Given the description of an element on the screen output the (x, y) to click on. 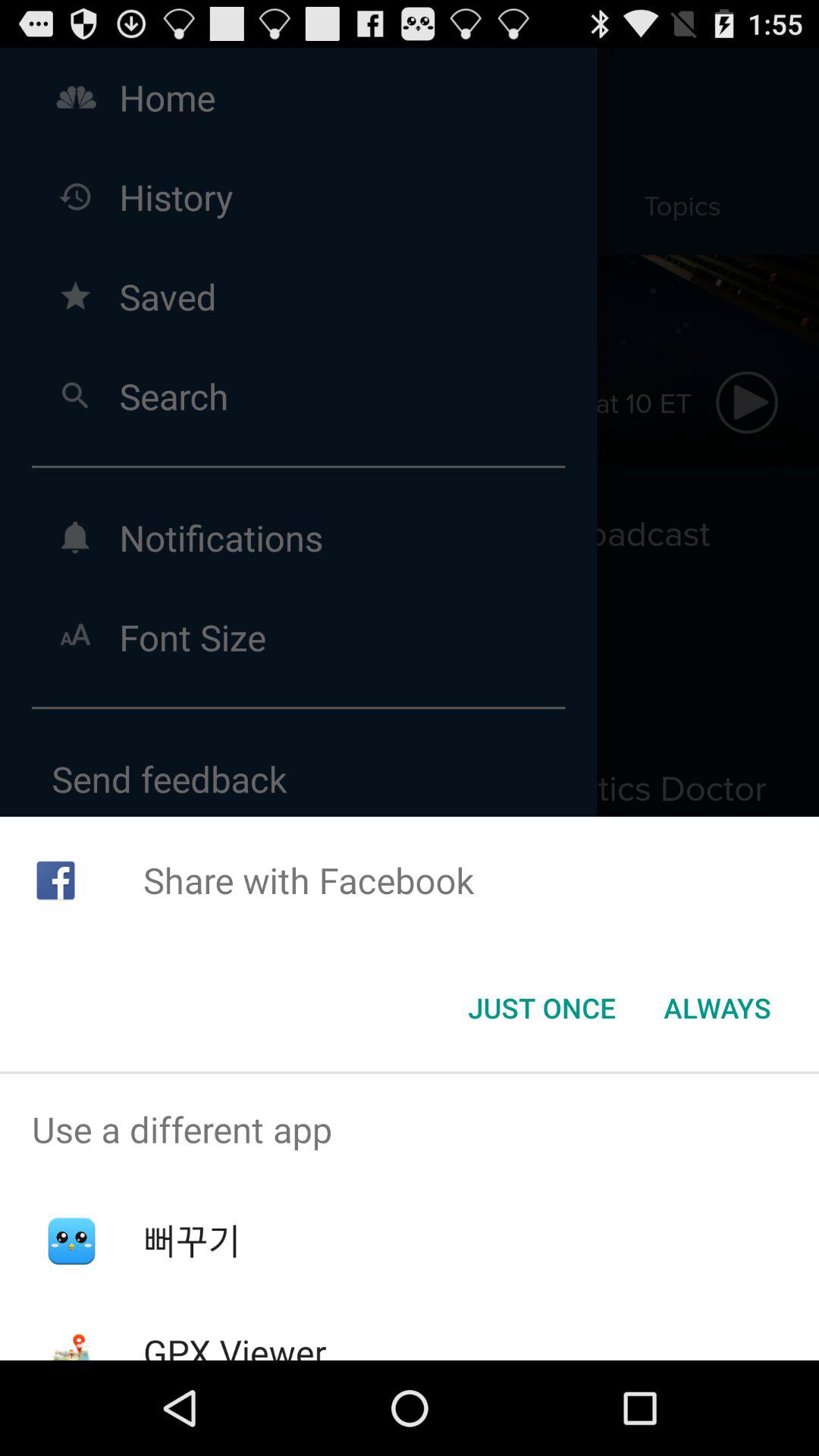
press the button to the left of always icon (541, 1007)
